Given the description of an element on the screen output the (x, y) to click on. 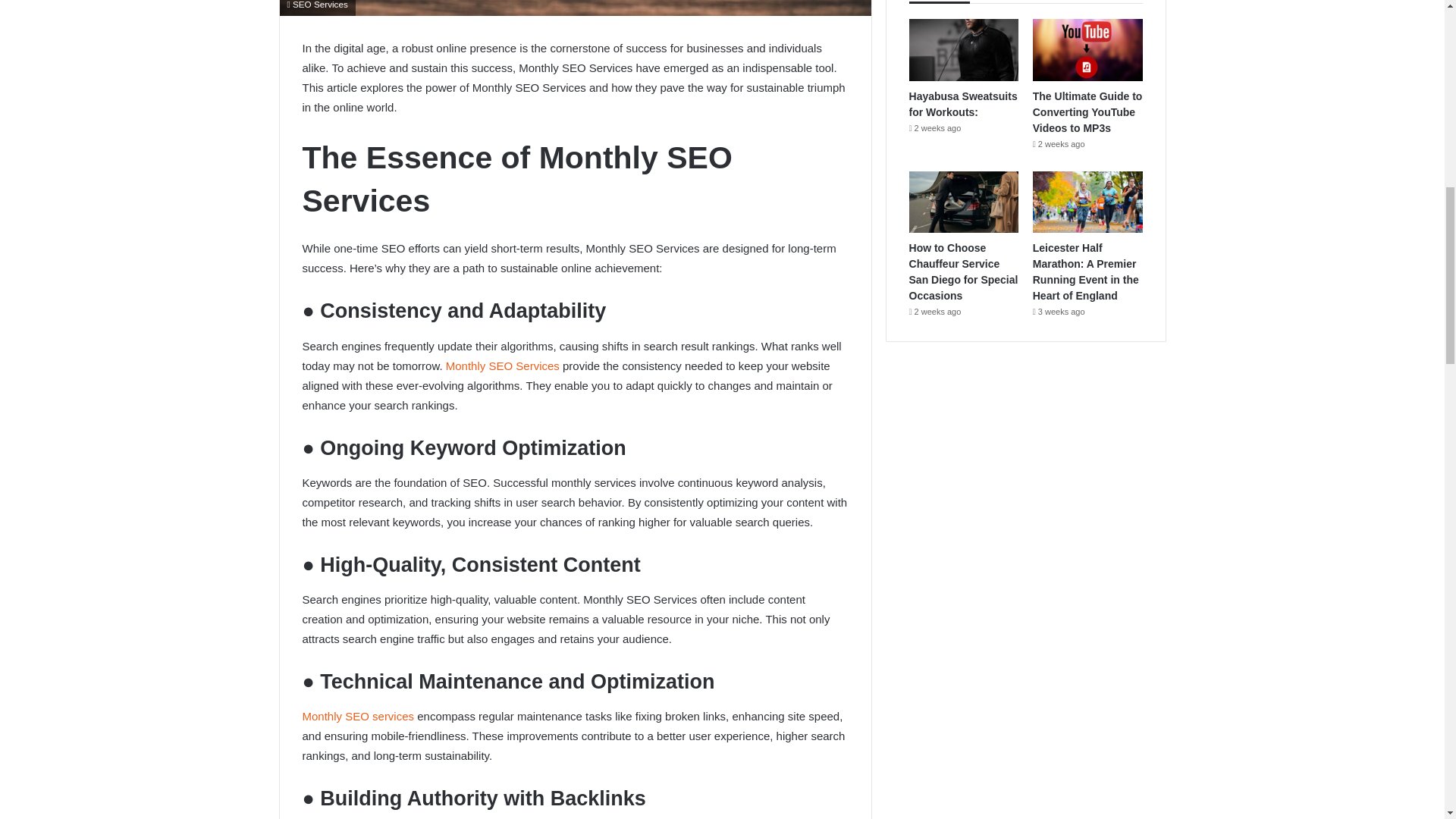
Monthly SEO services (357, 716)
Monthly SEO Services (502, 365)
